Given the description of an element on the screen output the (x, y) to click on. 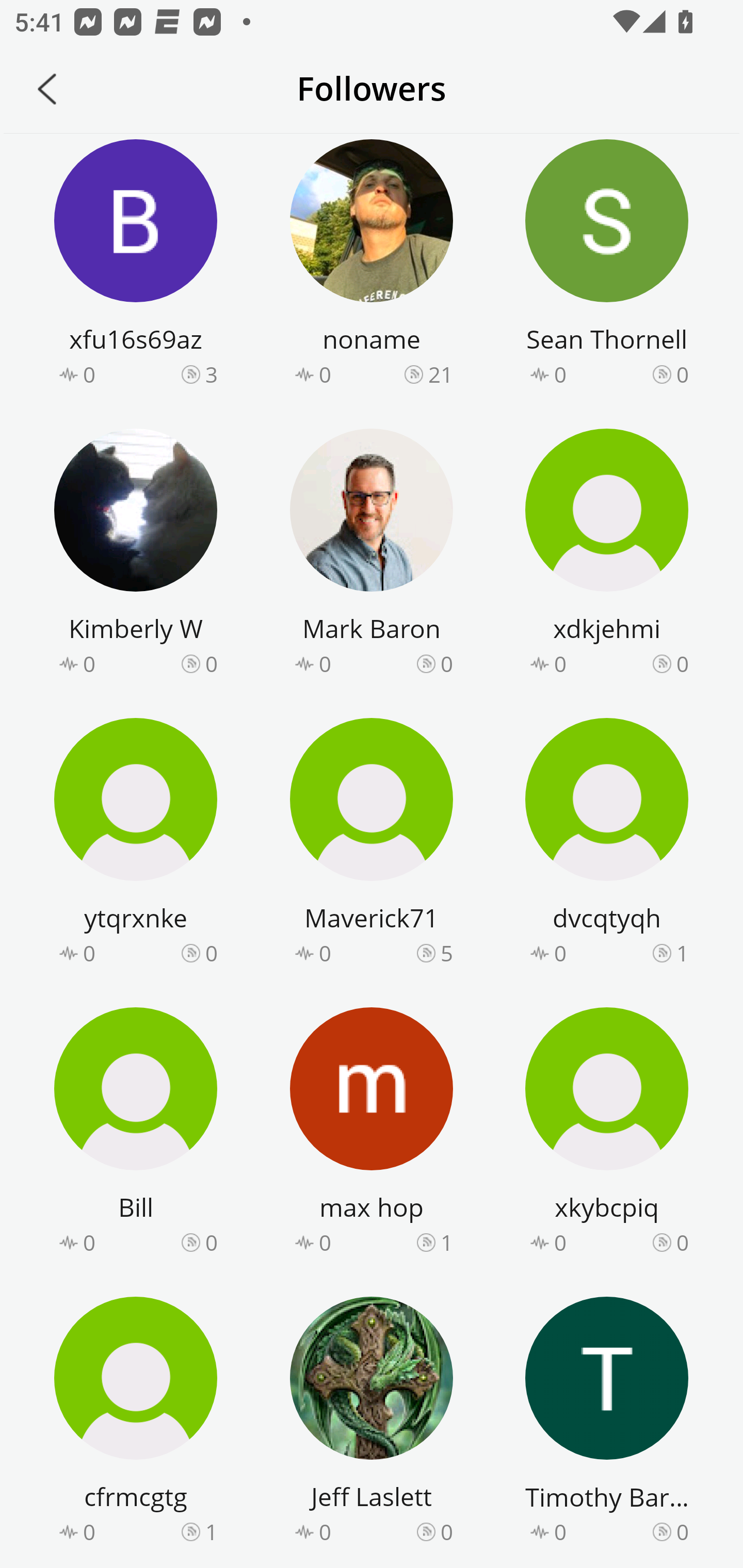
Back (46, 88)
xfu16s69az 0 3 (135, 265)
noname 0 21 (371, 265)
Sean Thornell 0 0 (606, 265)
3 (211, 373)
21 (440, 373)
0 (682, 373)
Kimberly W 0 0 (135, 555)
Mark Baron 0 0 (371, 555)
xdkjehmi 0 0 (606, 555)
0 (211, 663)
0 (446, 663)
0 (682, 663)
ytqrxnke 0 0 (135, 844)
Maverick71 0 5 (371, 844)
dvcqtyqh 0 1 (606, 844)
0 (211, 952)
5 (446, 952)
1 (682, 952)
Bill 0 0 (135, 1133)
max hop 0 1 (371, 1133)
xkybcpiq 0 0 (606, 1133)
0 (211, 1242)
1 (446, 1242)
0 (682, 1242)
cfrmcgtg 0 1 (135, 1422)
Jeff Laslett 0 0 (371, 1422)
Timothy Barnes 0 0 (606, 1422)
1 (211, 1531)
0 (446, 1531)
0 (682, 1531)
